Given the description of an element on the screen output the (x, y) to click on. 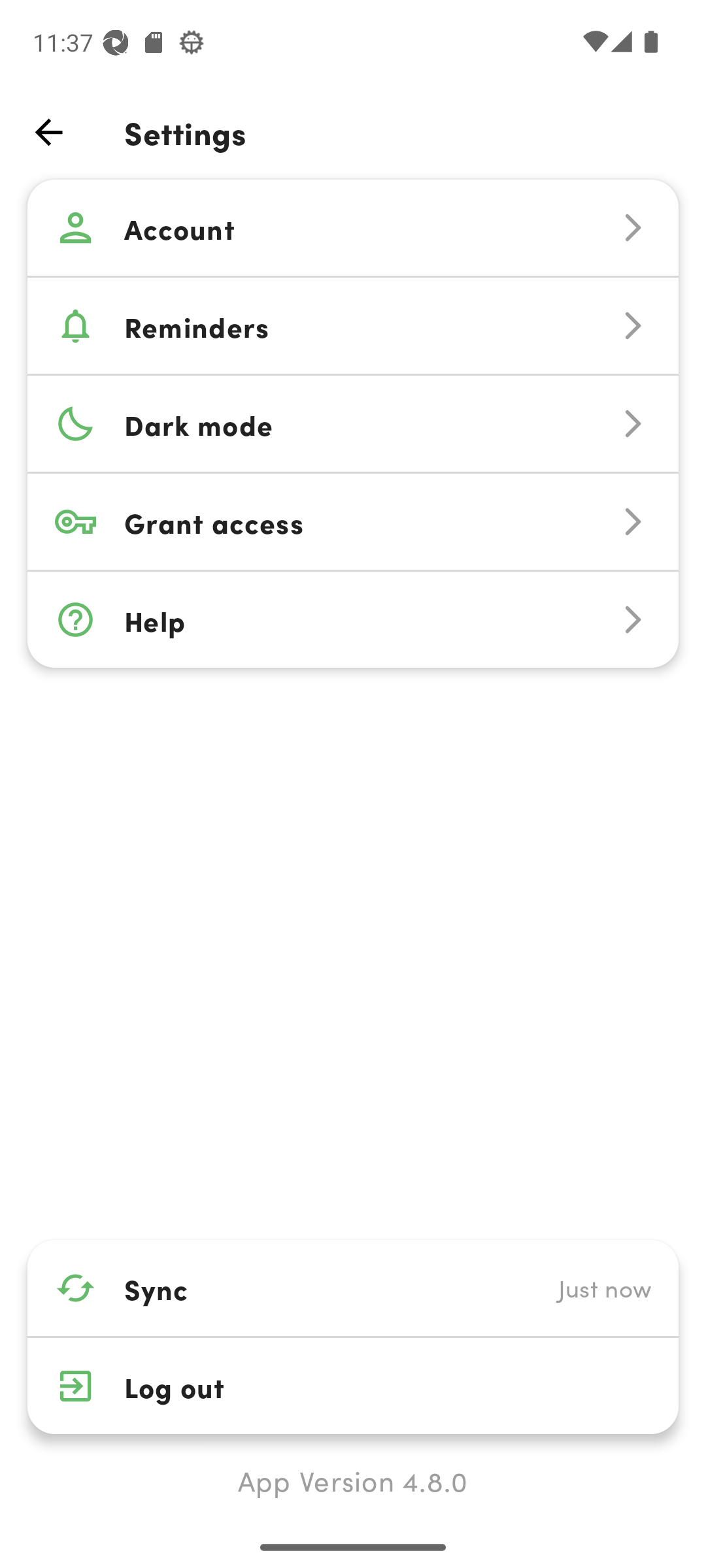
top_left_action (48, 132)
Account (352, 227)
Reminders (352, 325)
Dark mode (352, 423)
Grant access (352, 521)
Help (352, 619)
Sync Just now (352, 1287)
Log out (352, 1385)
